Given the description of an element on the screen output the (x, y) to click on. 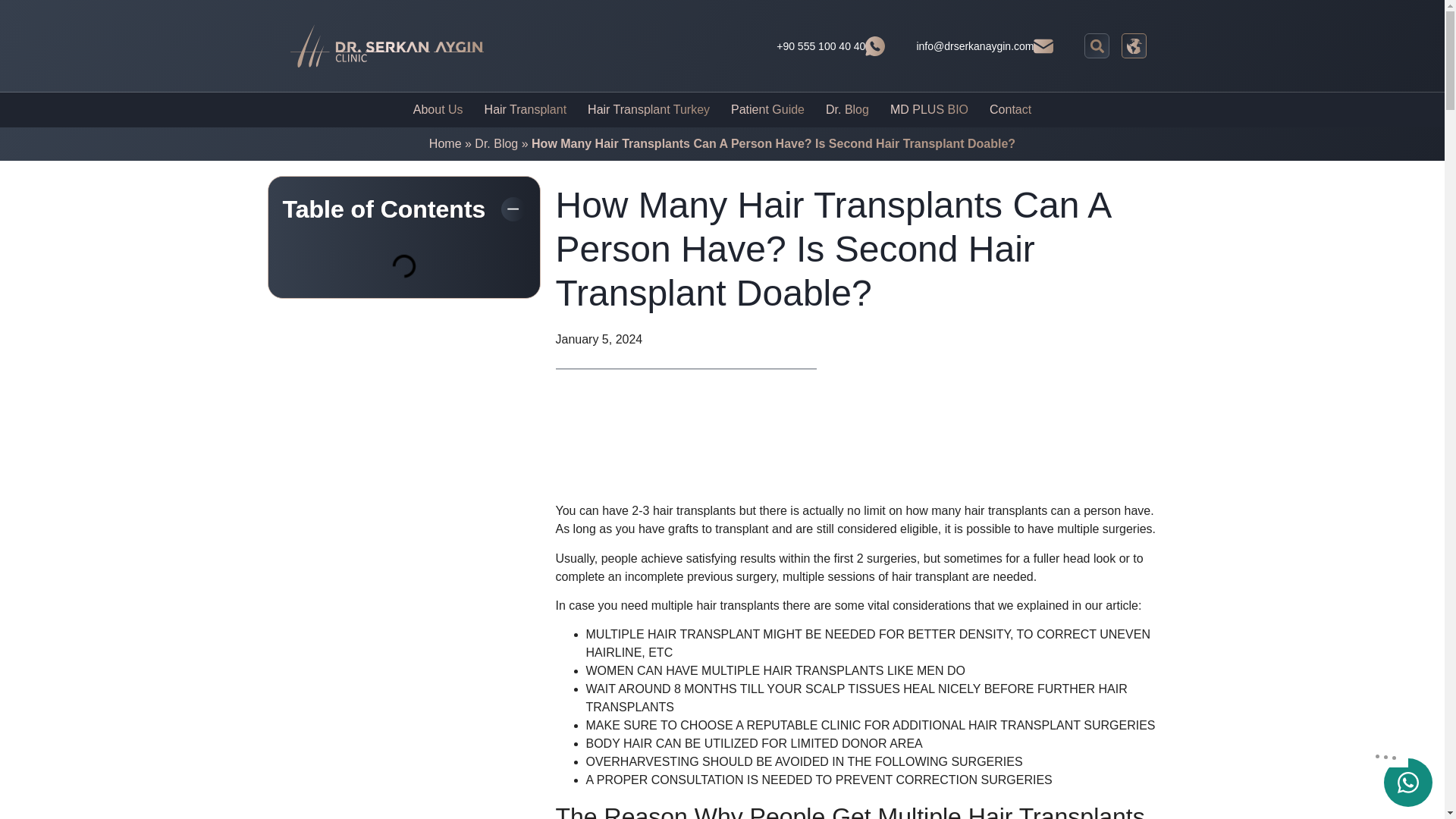
About Us (438, 109)
Murf Embed Player (766, 442)
Hair Transplant (526, 109)
